Given the description of an element on the screen output the (x, y) to click on. 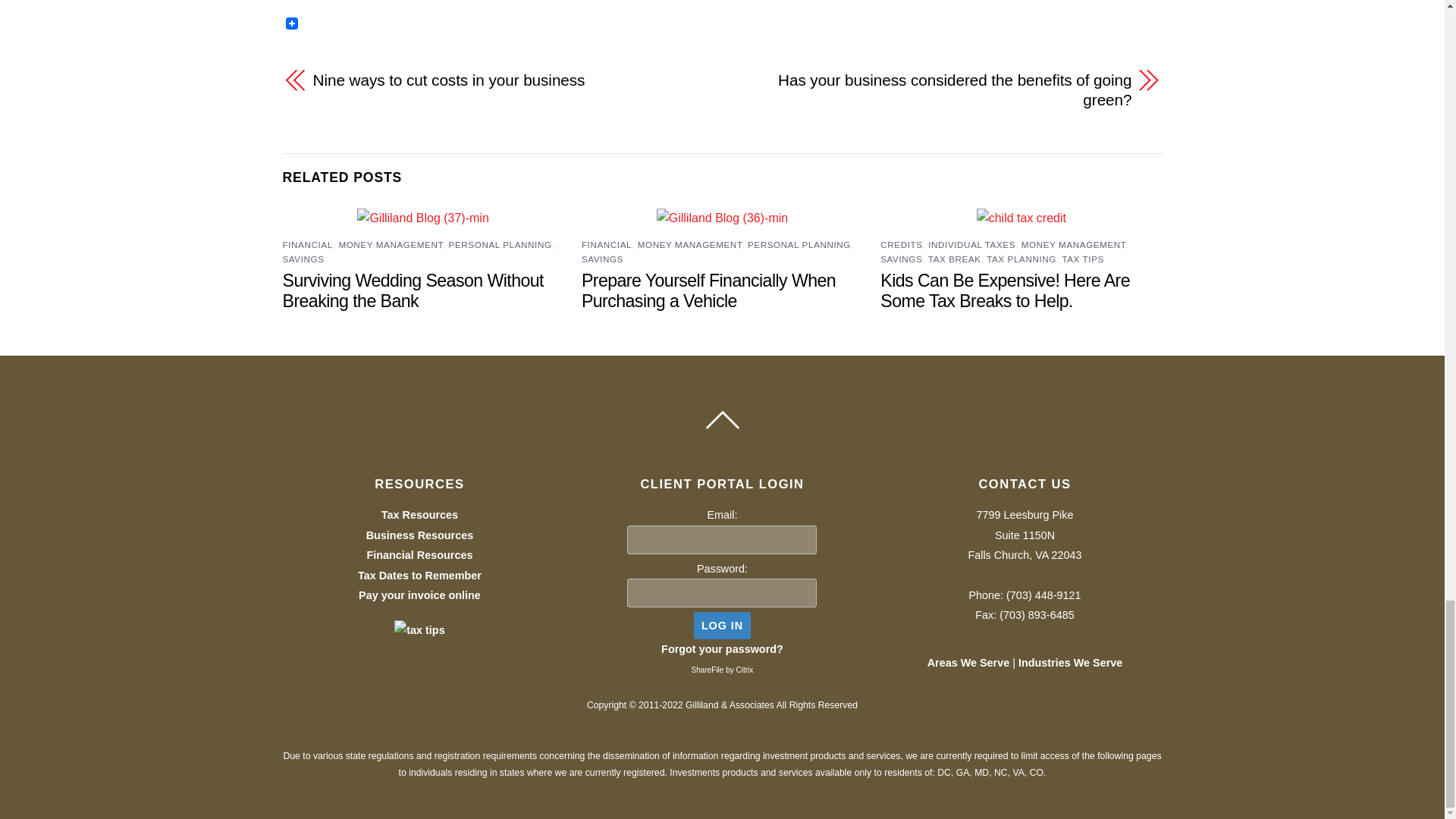
Kids Can Be Expensive! Here Are Some Tax Breaks to Help. (1004, 291)
Log In (722, 625)
Prepare Yourself Financially When Purchasing a Vehicle (707, 291)
Surviving Wedding Season Without Breaking the Bank (412, 291)
